Given the description of an element on the screen output the (x, y) to click on. 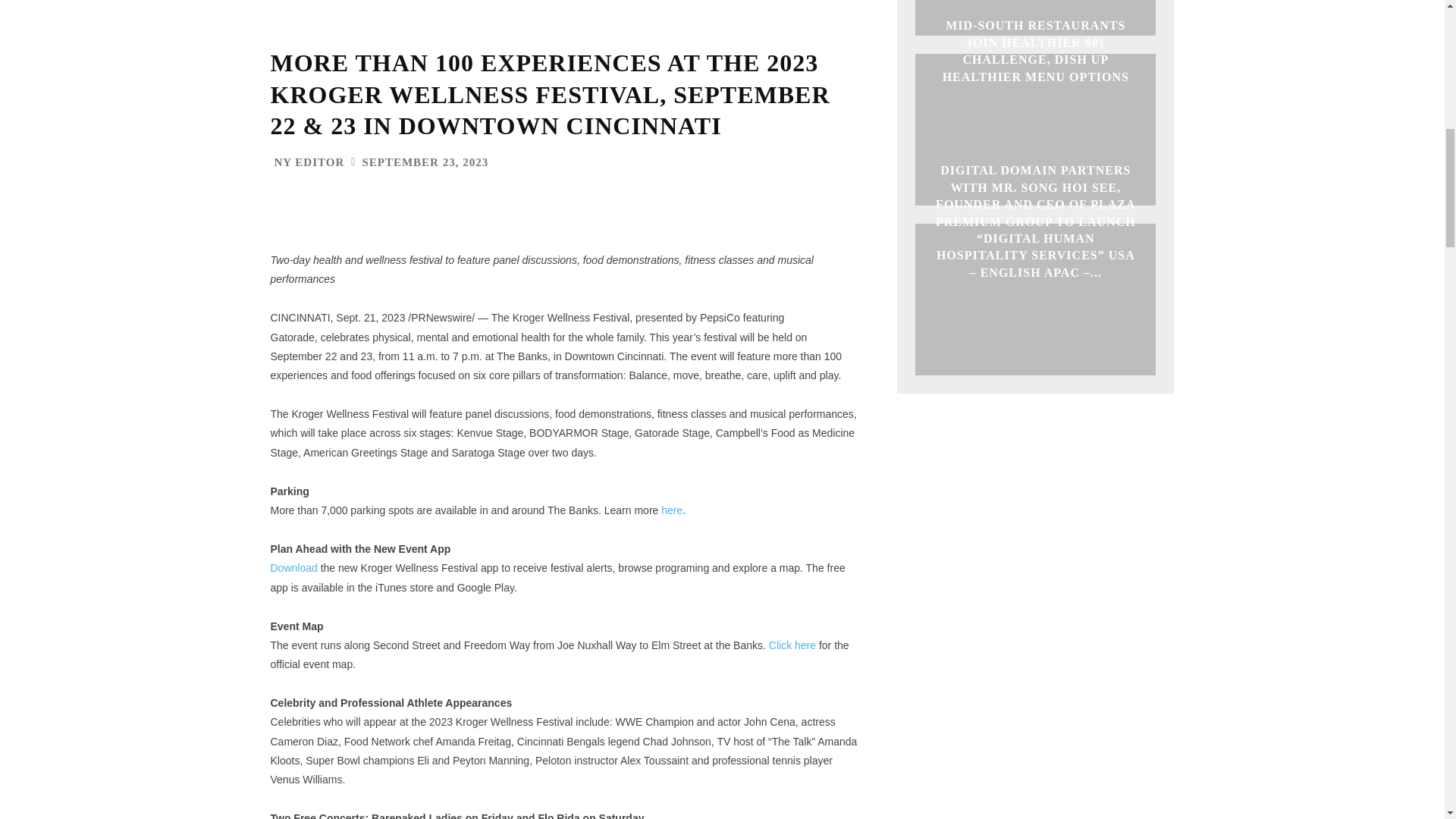
Download (293, 567)
here (671, 510)
NY EDITOR (310, 162)
Click here (791, 645)
